Given the description of an element on the screen output the (x, y) to click on. 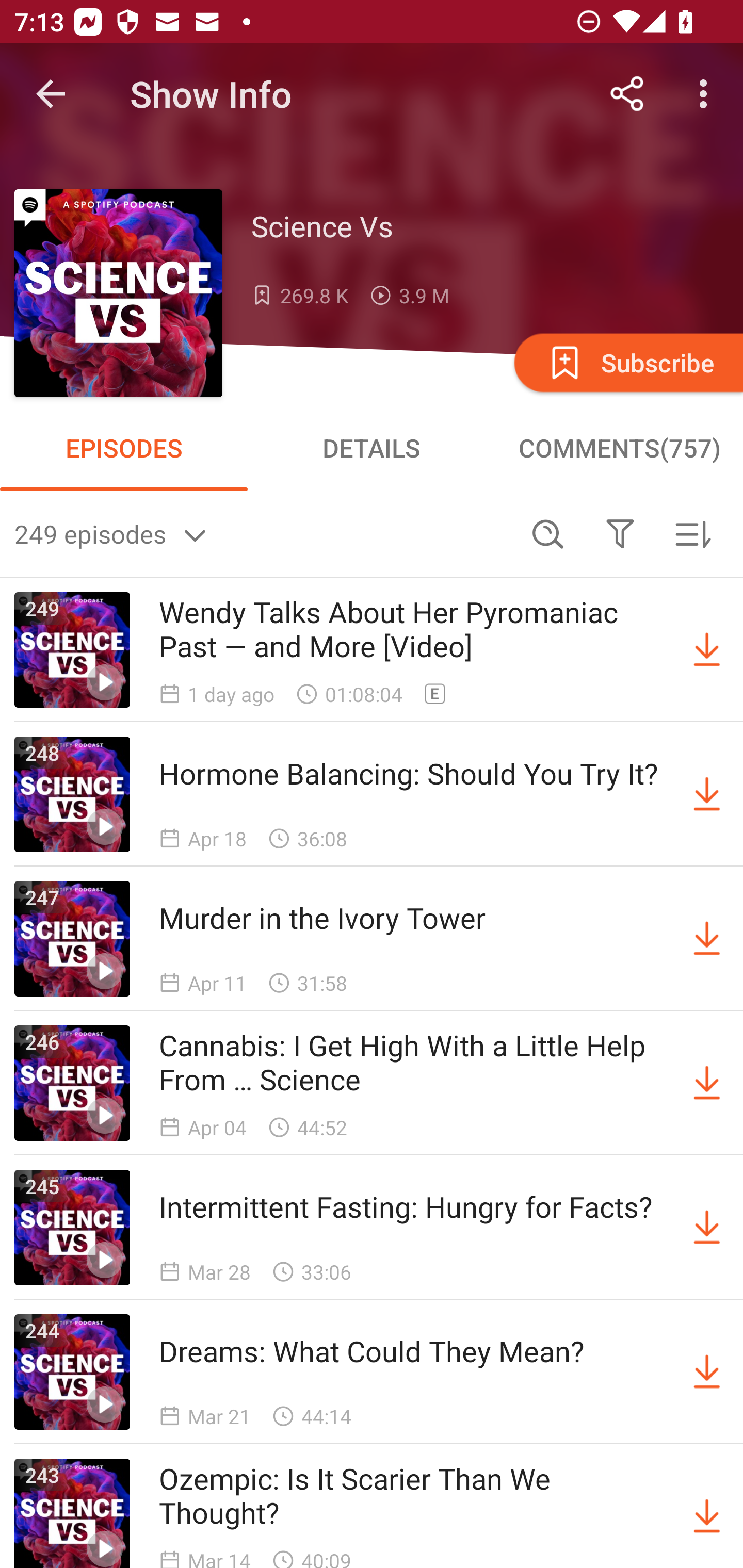
Navigate up (50, 93)
Share (626, 93)
More options (706, 93)
Subscribe (627, 361)
EPISODES (123, 447)
DETAILS (371, 447)
COMMENTS(757) (619, 447)
249 episodes  (262, 533)
 Search (547, 533)
 (619, 533)
 Sorted by newest first (692, 533)
Download (706, 649)
Download (706, 793)
Download (706, 939)
Download (706, 1083)
Download (706, 1227)
Download (706, 1371)
Download (706, 1513)
